Given the description of an element on the screen output the (x, y) to click on. 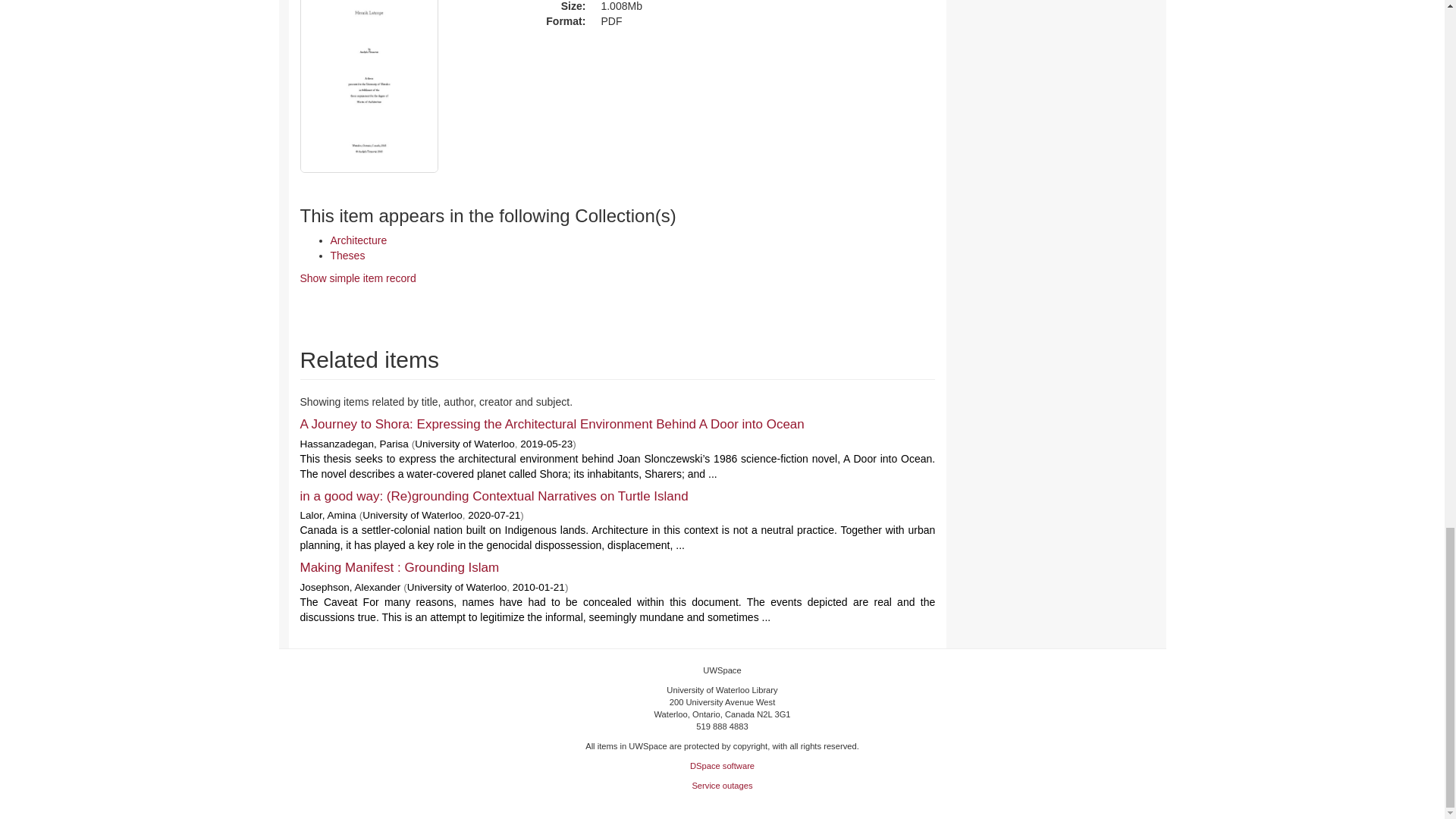
Architecture (358, 240)
Theses (347, 255)
Show simple item record (357, 277)
Making Manifest : Grounding Islam (399, 567)
